Given the description of an element on the screen output the (x, y) to click on. 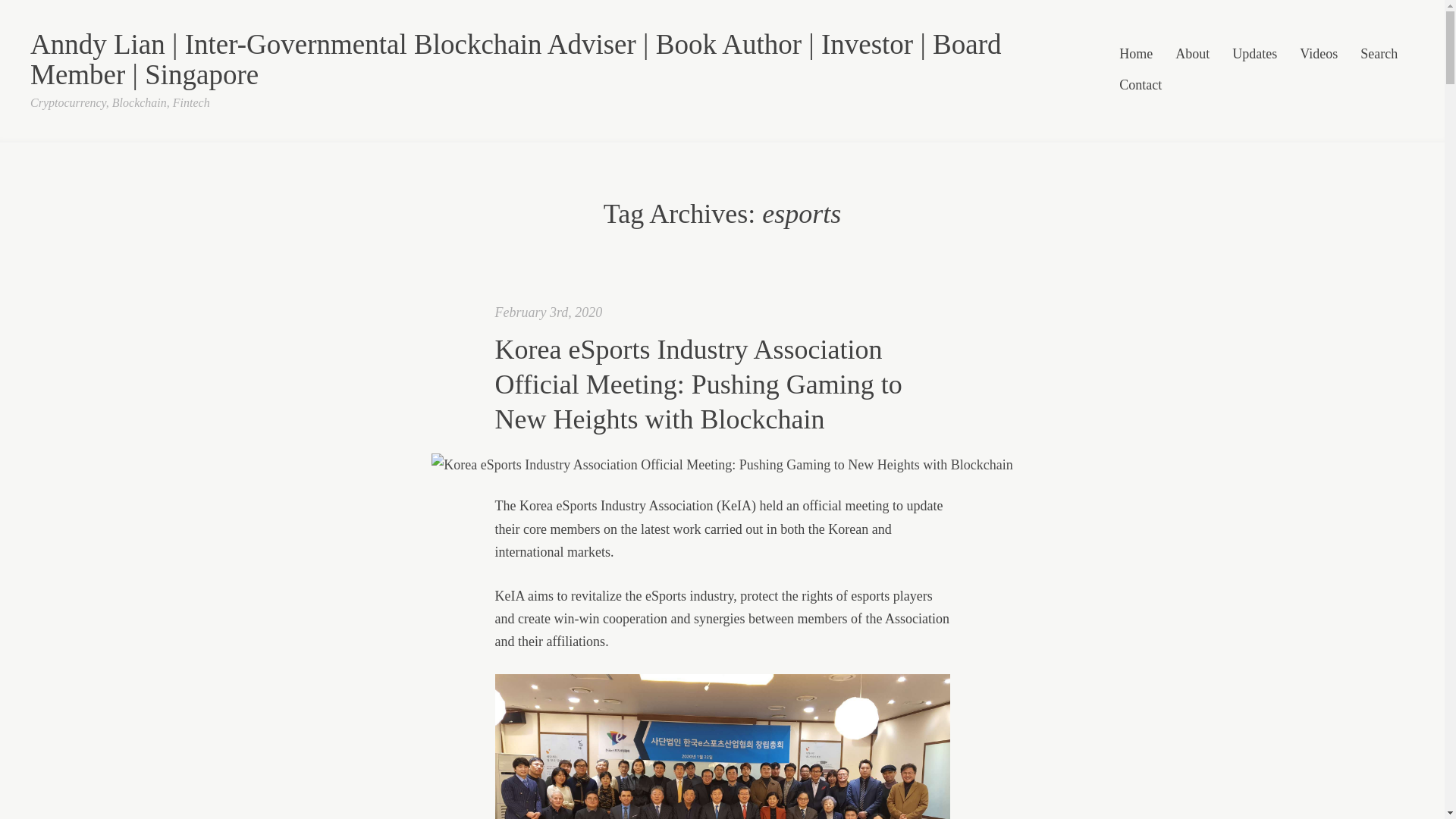
Home (1136, 55)
Videos (1319, 55)
Contact (1140, 86)
Updates (1253, 55)
February 3rd, 2020 (548, 312)
12:22 pm (548, 312)
Search (1378, 55)
About (1191, 55)
